Given the description of an element on the screen output the (x, y) to click on. 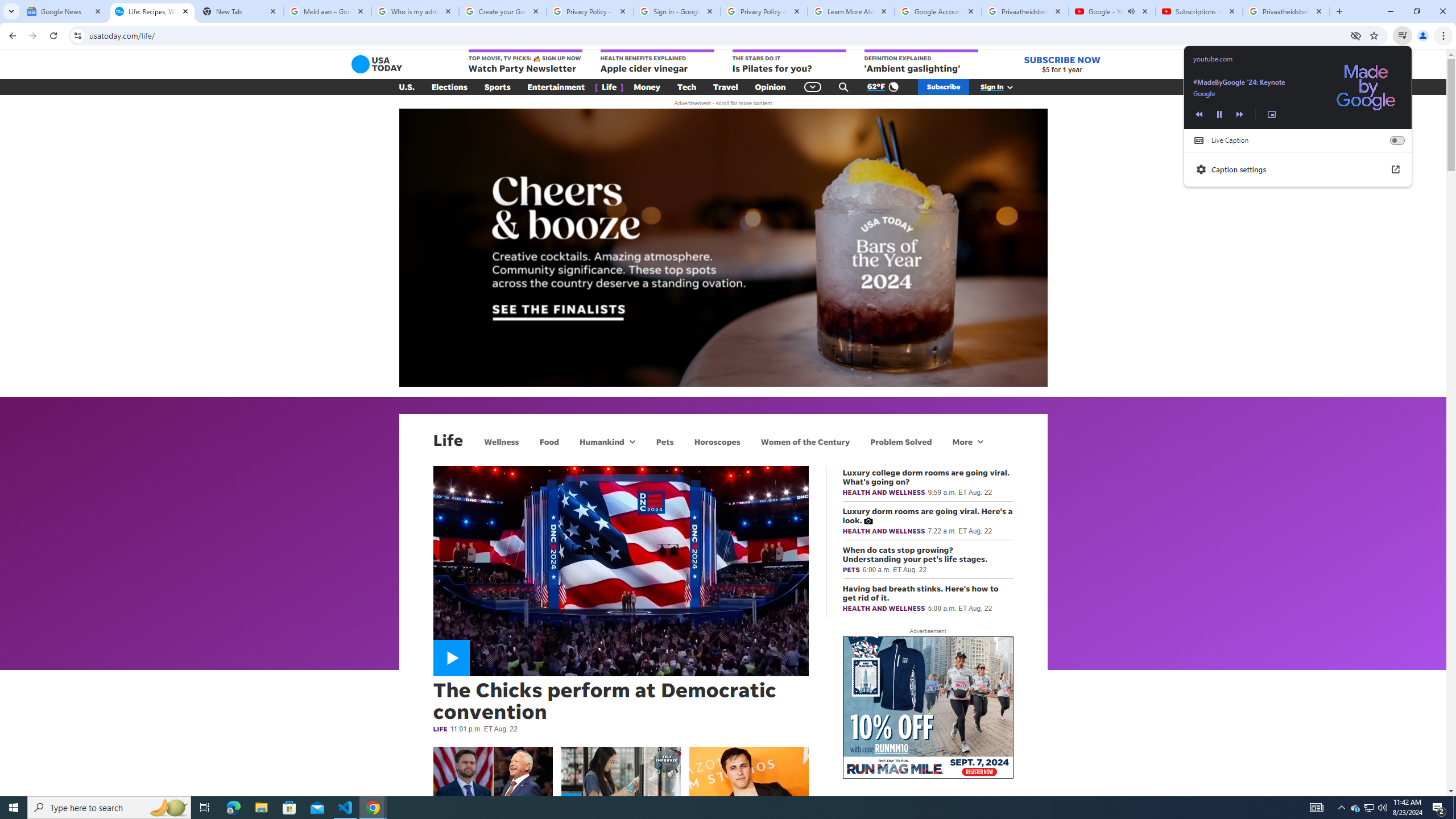
Google Account (938, 11)
HEALTH BENEFITS EXPLAINED Apple cider vinegar (656, 62)
Sports (497, 87)
Action Center, 2 new notifications (1439, 807)
More life navigation (968, 441)
Microsoft Edge (233, 807)
Restore (1416, 11)
System (6, 6)
Play (1219, 114)
DEFINITION EXPLAINED 'Ambient gaslighting' (920, 62)
Wellness (501, 441)
Caption settings  (1297, 169)
